Given the description of an element on the screen output the (x, y) to click on. 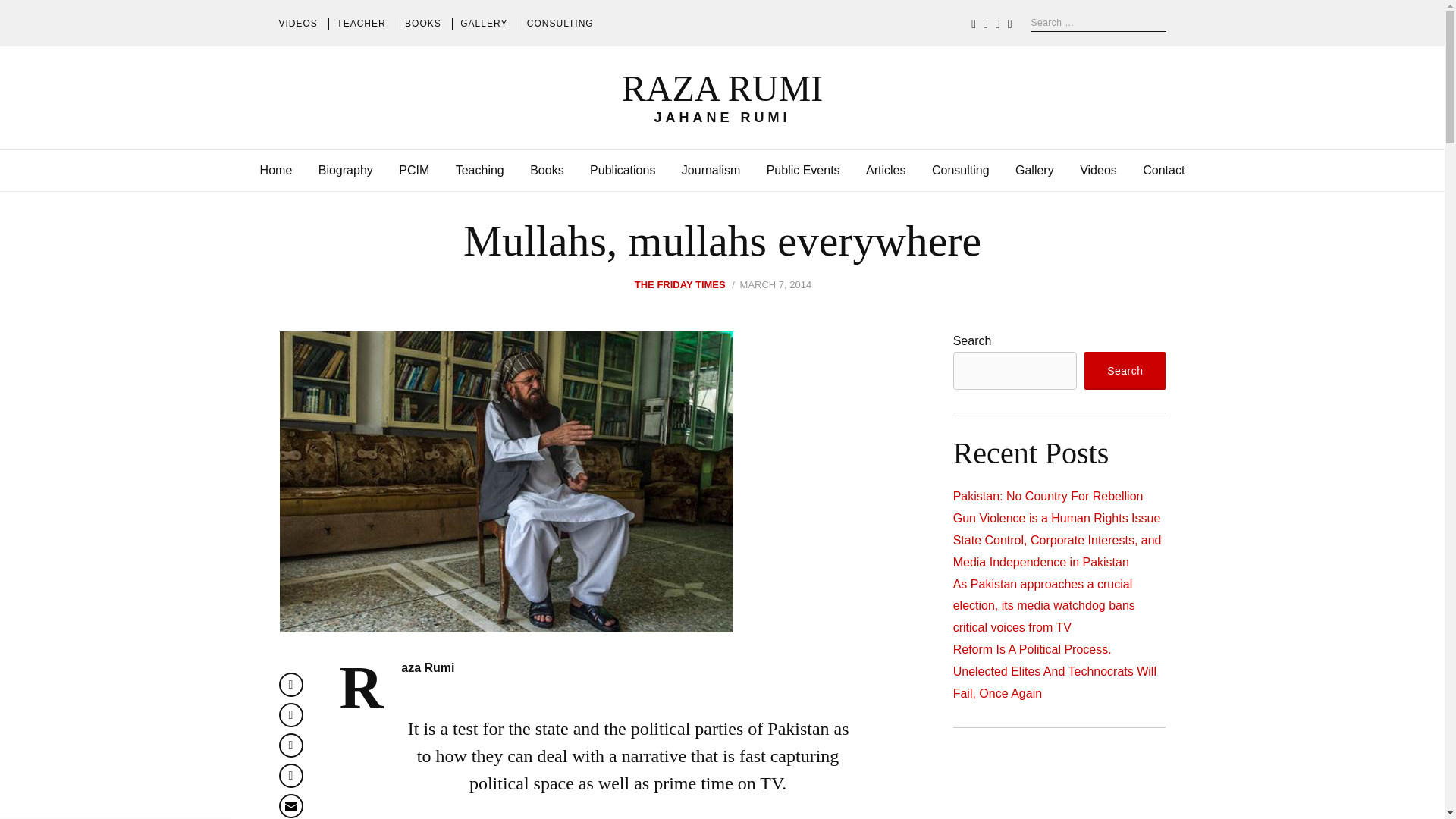
Email (290, 805)
Pinterest (290, 745)
BOOKS (422, 24)
Whatsapp (290, 775)
Gallery (1034, 169)
TEACHER (360, 24)
Teaching (479, 169)
Journalism (710, 169)
Public Events (803, 169)
GALLERY (483, 24)
